Given the description of an element on the screen output the (x, y) to click on. 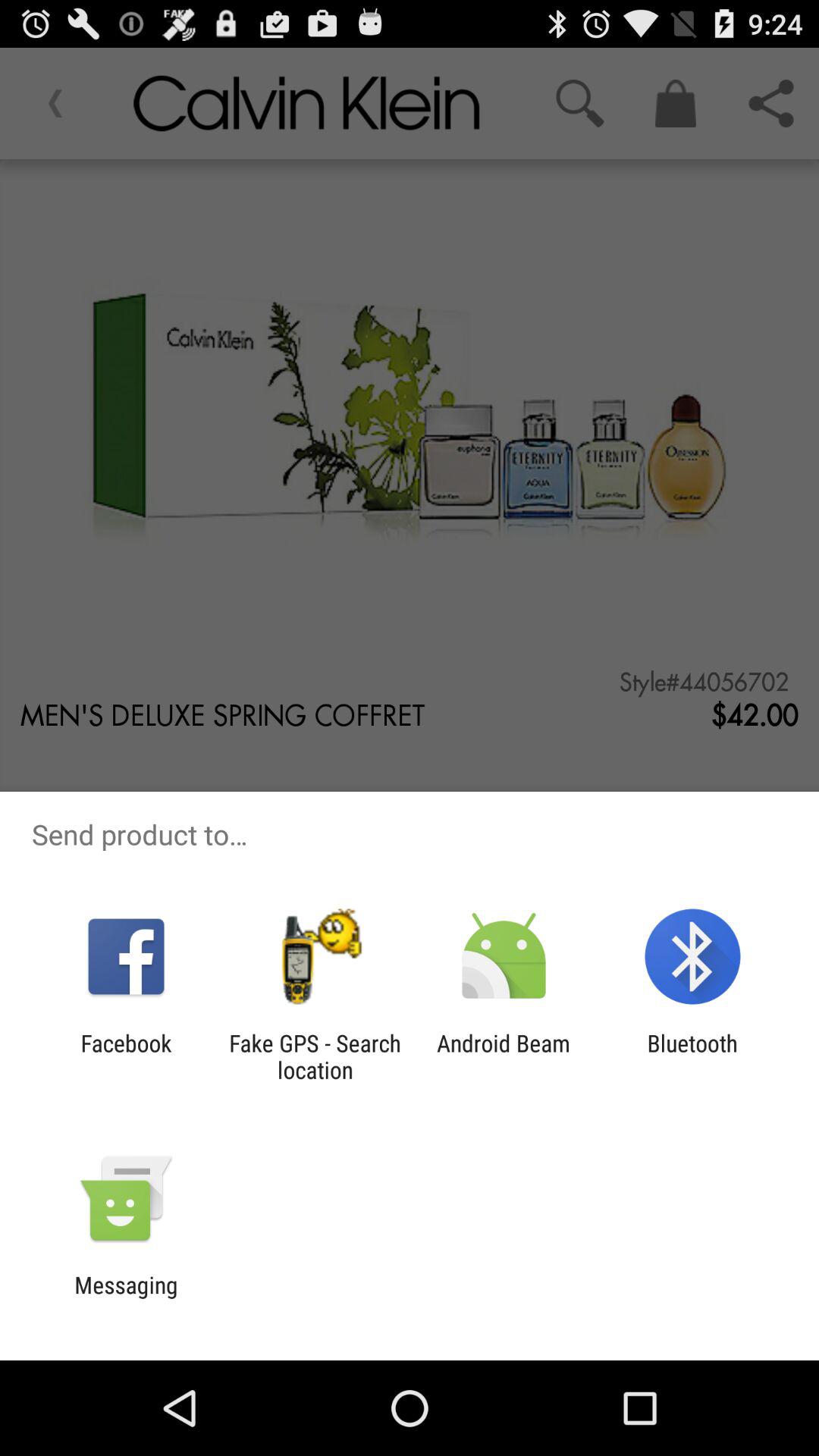
turn on item to the left of the bluetooth app (503, 1056)
